Given the description of an element on the screen output the (x, y) to click on. 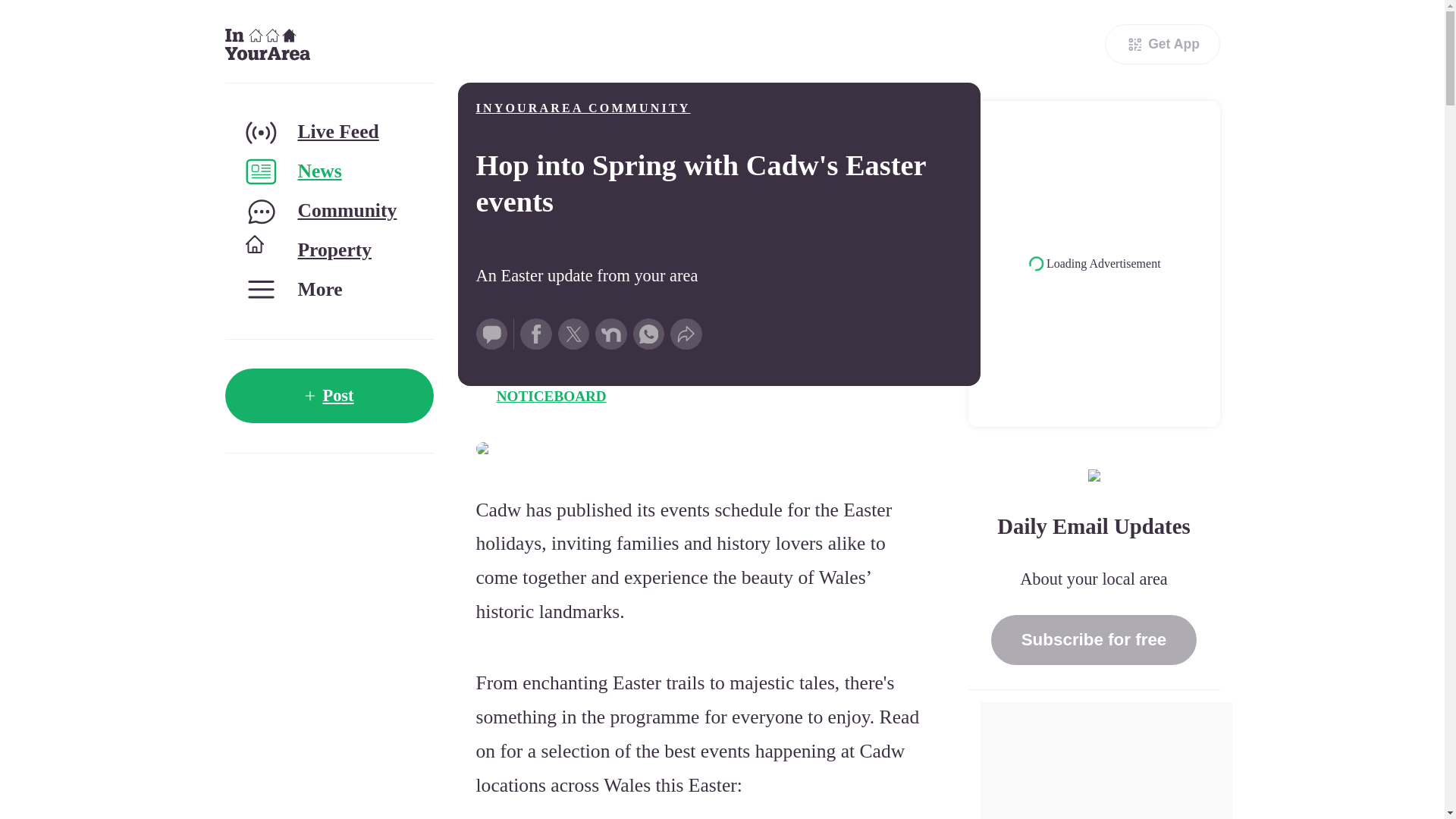
Share to X (573, 334)
Property (328, 250)
Live Feed (328, 132)
Community (328, 210)
INYOURAREA COMMUNITY (583, 107)
Social Button (492, 334)
Post (328, 395)
News (328, 171)
Share to Nextdoor (611, 334)
Get App (1162, 44)
Share to Whatsapp (649, 334)
Share to Facebook (535, 334)
Get App (1162, 44)
Share to ... (685, 334)
